Given the description of an element on the screen output the (x, y) to click on. 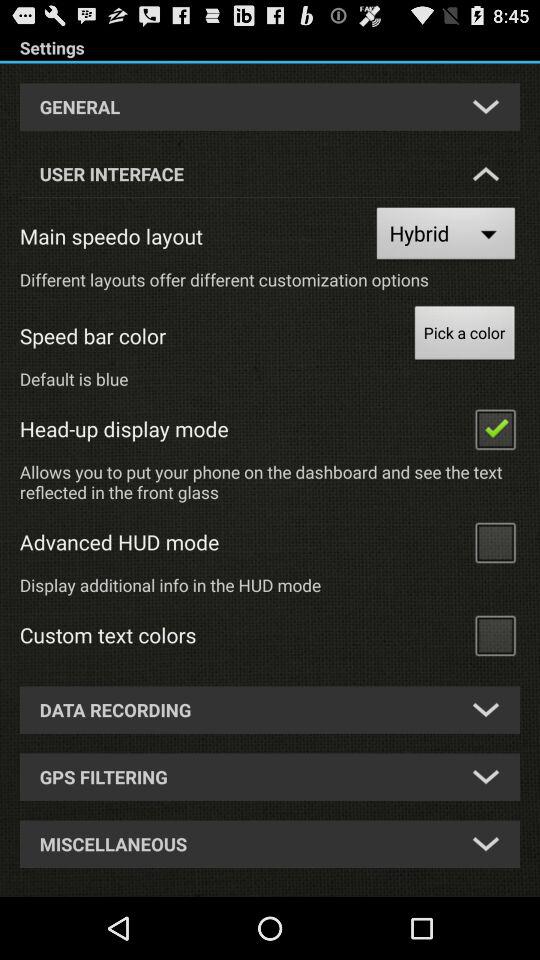
turn on item to the right of the speed bar color app (464, 335)
